Given the description of an element on the screen output the (x, y) to click on. 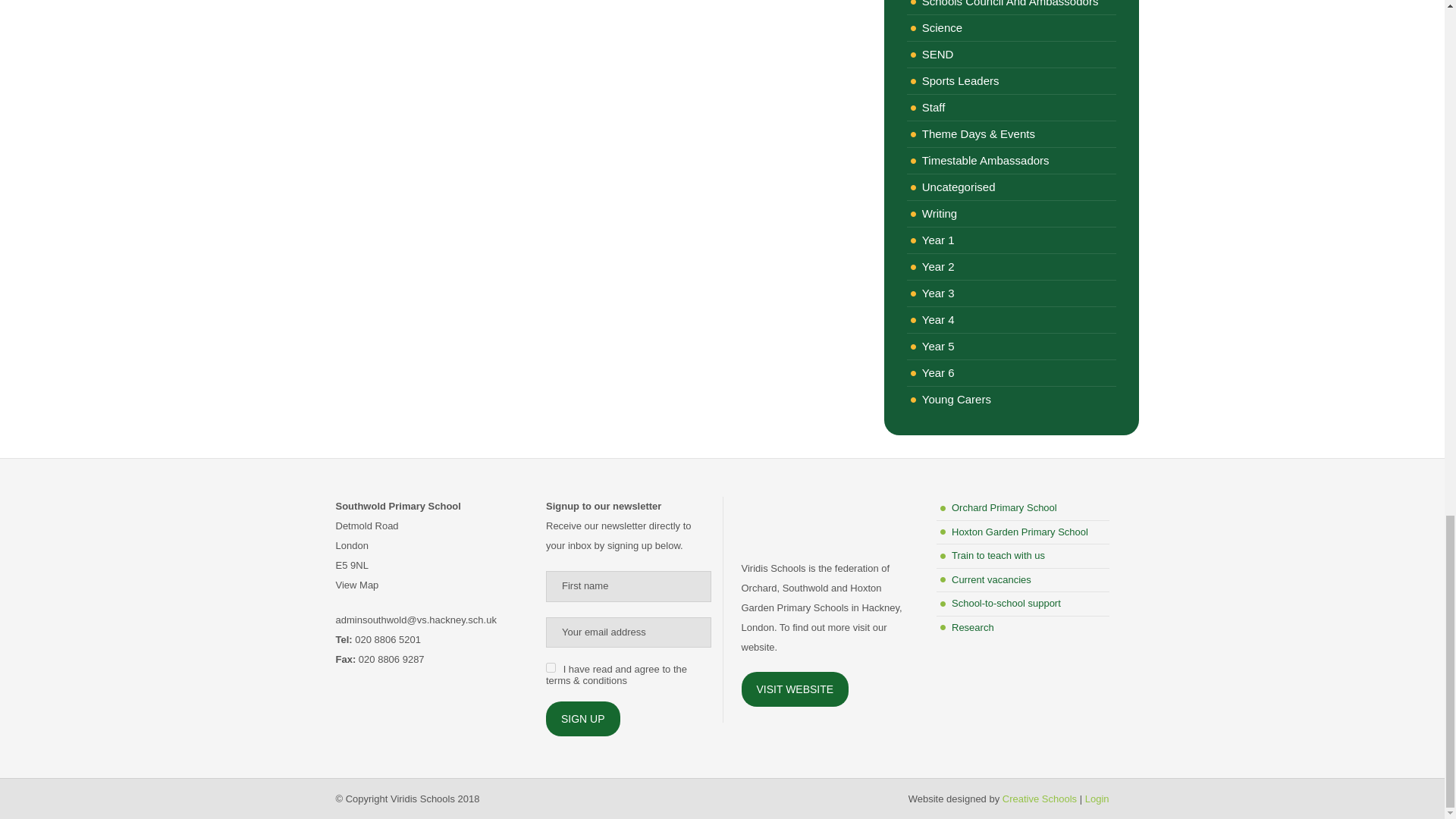
1 (551, 667)
Sign up (583, 718)
